Given the description of an element on the screen output the (x, y) to click on. 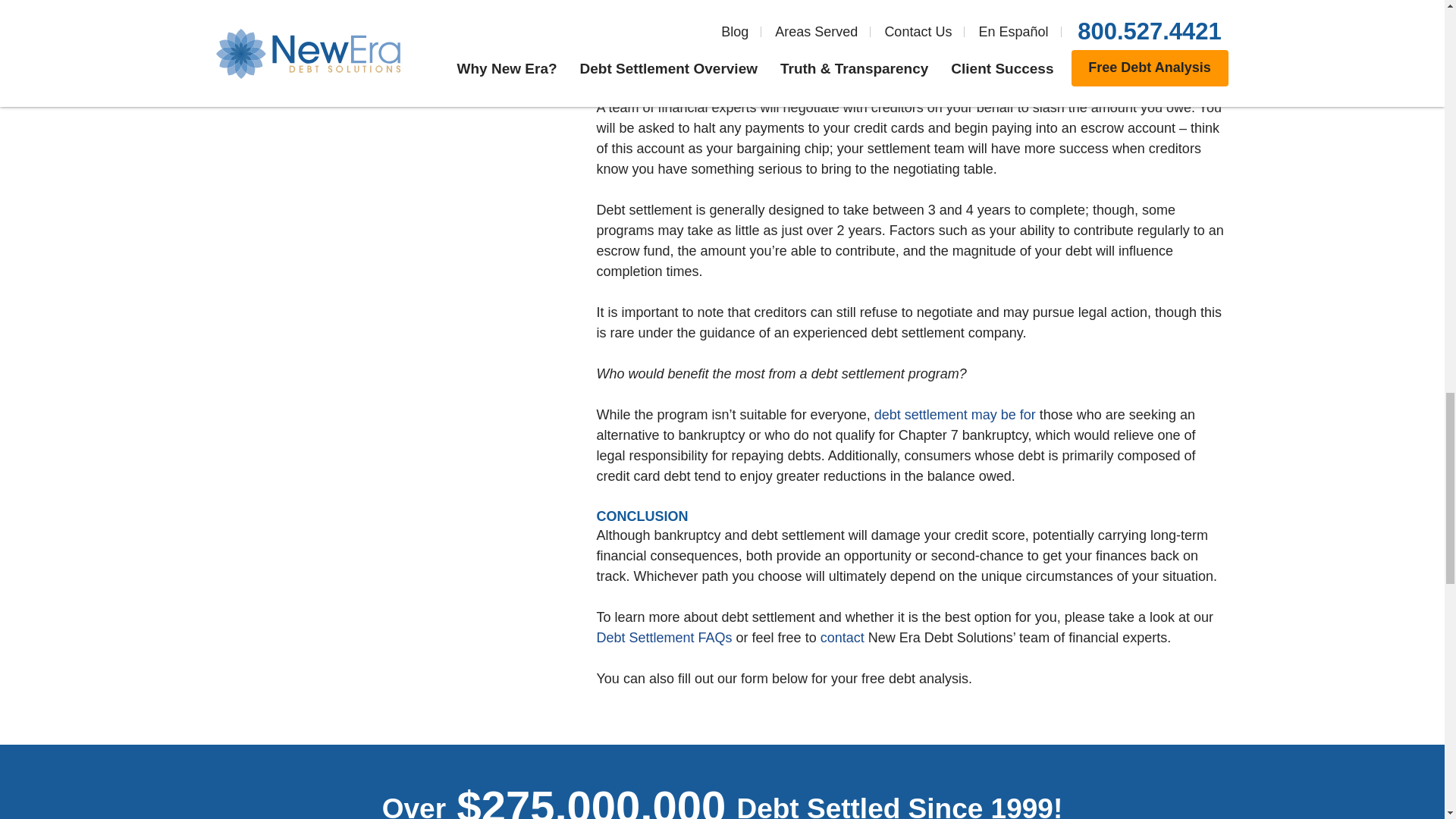
contact (842, 637)
debt settlement may be for (955, 414)
Debt Settlement FAQs (663, 637)
